Given the description of an element on the screen output the (x, y) to click on. 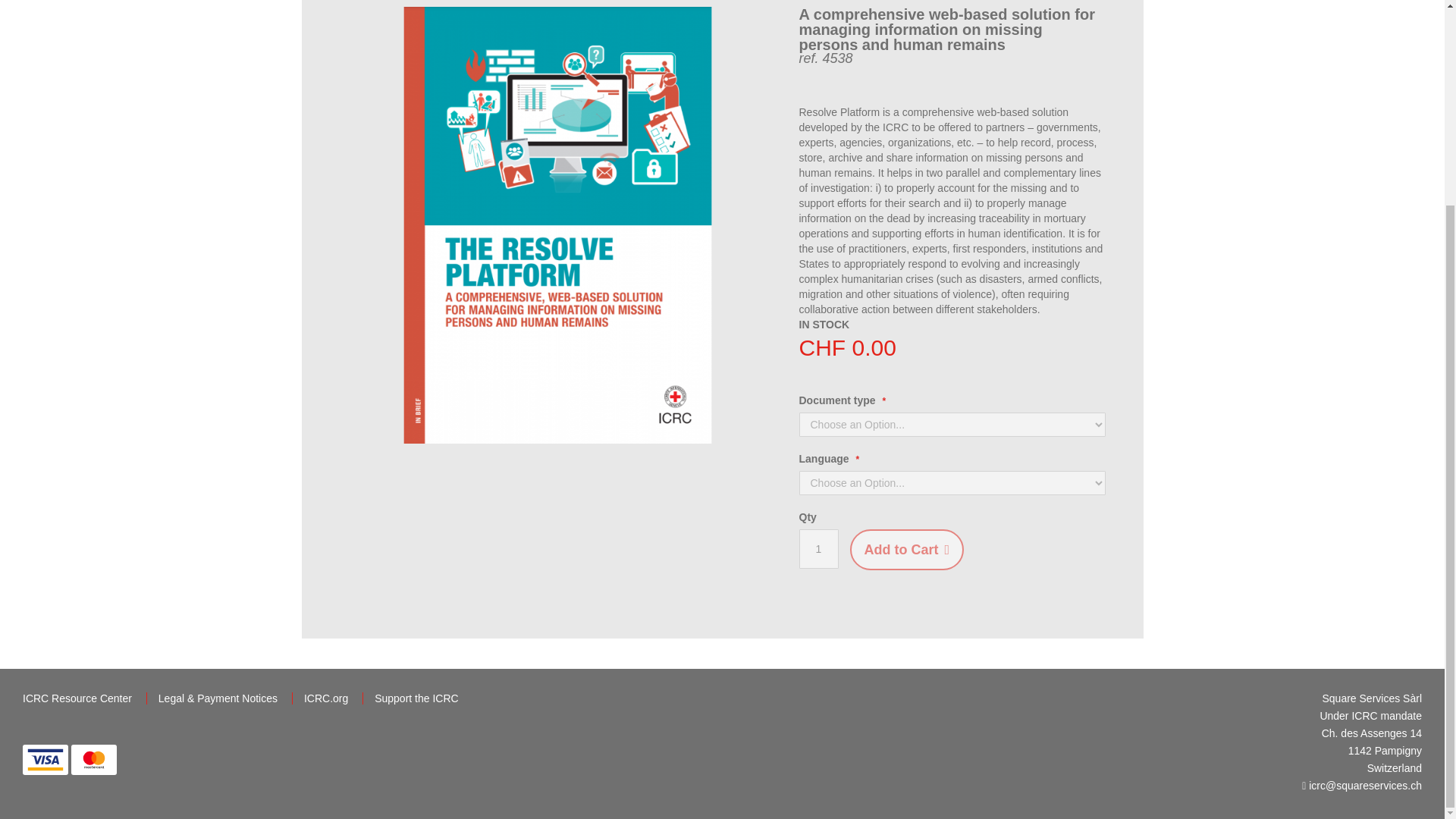
Qty (818, 548)
Add to Cart (905, 549)
1 (818, 548)
Add to Cart (905, 549)
ICRC Resource Center (79, 698)
Support the ICRC (416, 698)
Availability (824, 324)
ICRC.org (327, 698)
